Given the description of an element on the screen output the (x, y) to click on. 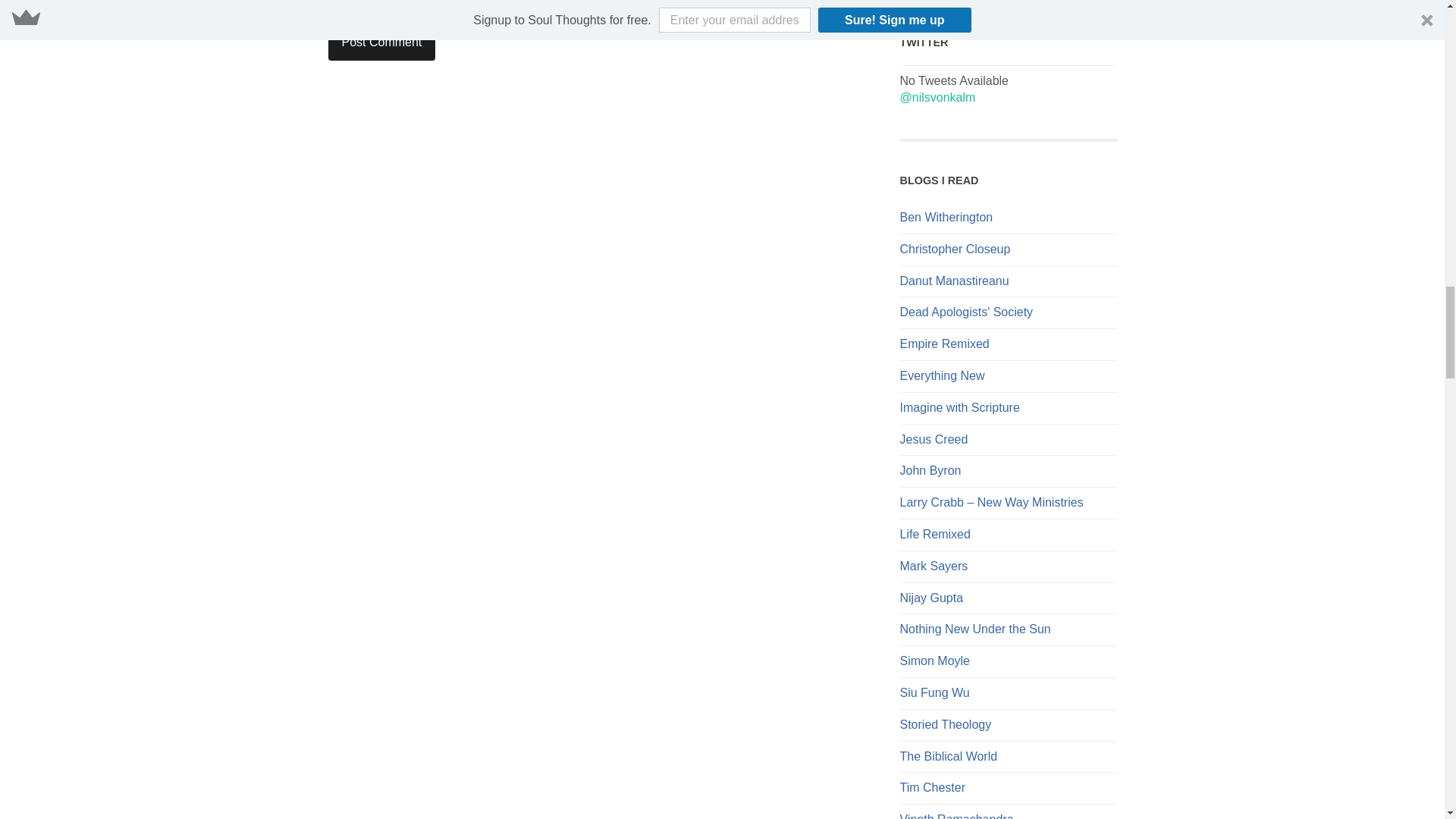
Post Comment (381, 42)
